Given the description of an element on the screen output the (x, y) to click on. 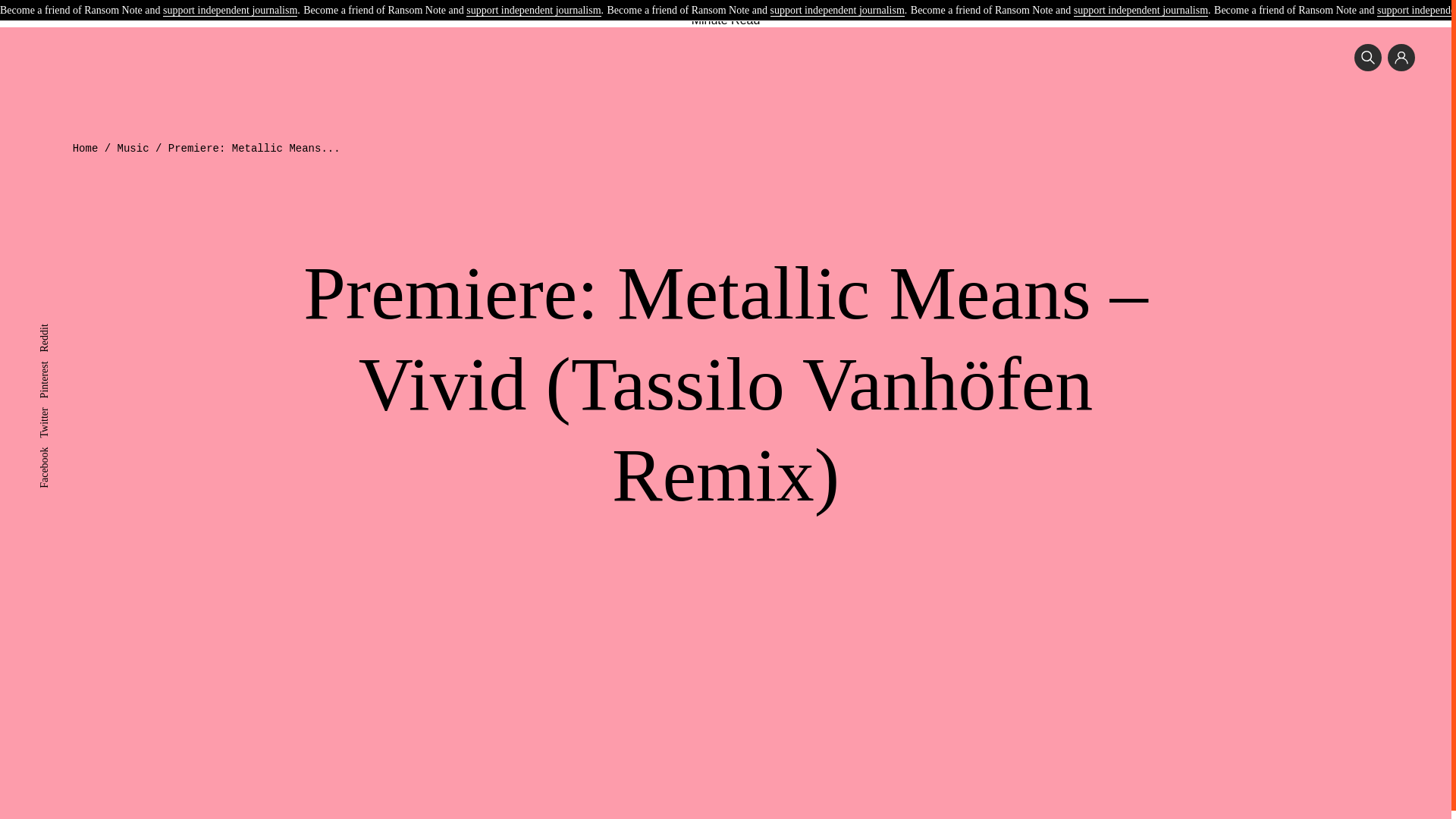
support independent journalism (532, 10)
Reddit (52, 329)
support independent journalism (837, 10)
Twitter (53, 413)
support independent journalism (1141, 10)
Home (85, 148)
Pinterest (57, 367)
Facebook (59, 452)
support independent journalism (230, 10)
Music (558, 3)
Music (133, 148)
Shop (895, 3)
Commentary (794, 3)
